Given the description of an element on the screen output the (x, y) to click on. 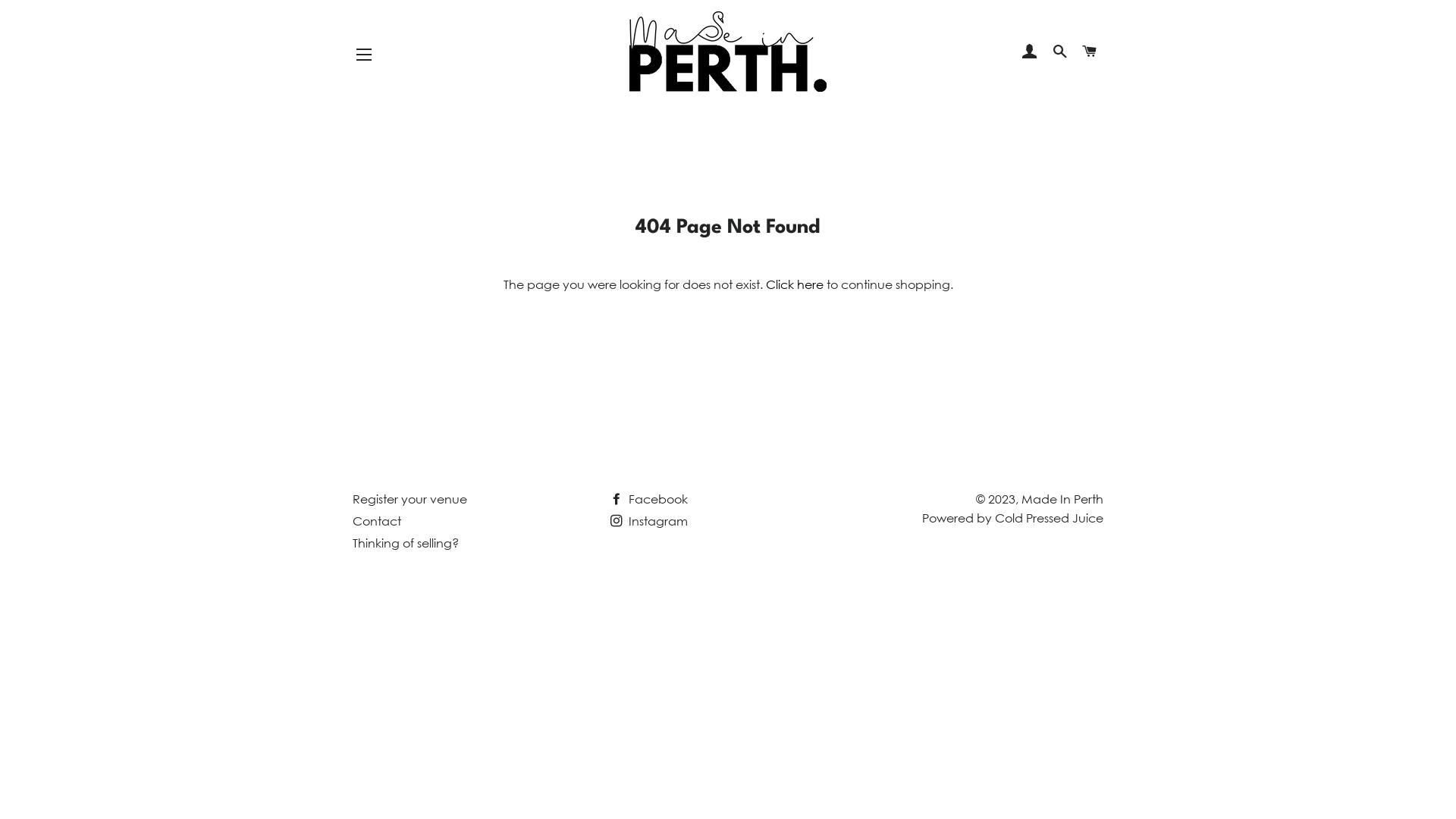
Thinking of selling? Element type: text (405, 542)
SEARCH Element type: text (1059, 51)
LOG IN Element type: text (1029, 51)
CART Element type: text (1089, 51)
SITE NAVIGATION Element type: text (363, 54)
Click here Element type: text (794, 283)
Made In Perth Element type: text (1062, 498)
Contact Element type: text (376, 520)
Register your venue Element type: text (409, 498)
Instagram Element type: text (648, 520)
Powered by Cold Pressed Juice Element type: text (1012, 517)
Facebook Element type: text (648, 498)
